Given the description of an element on the screen output the (x, y) to click on. 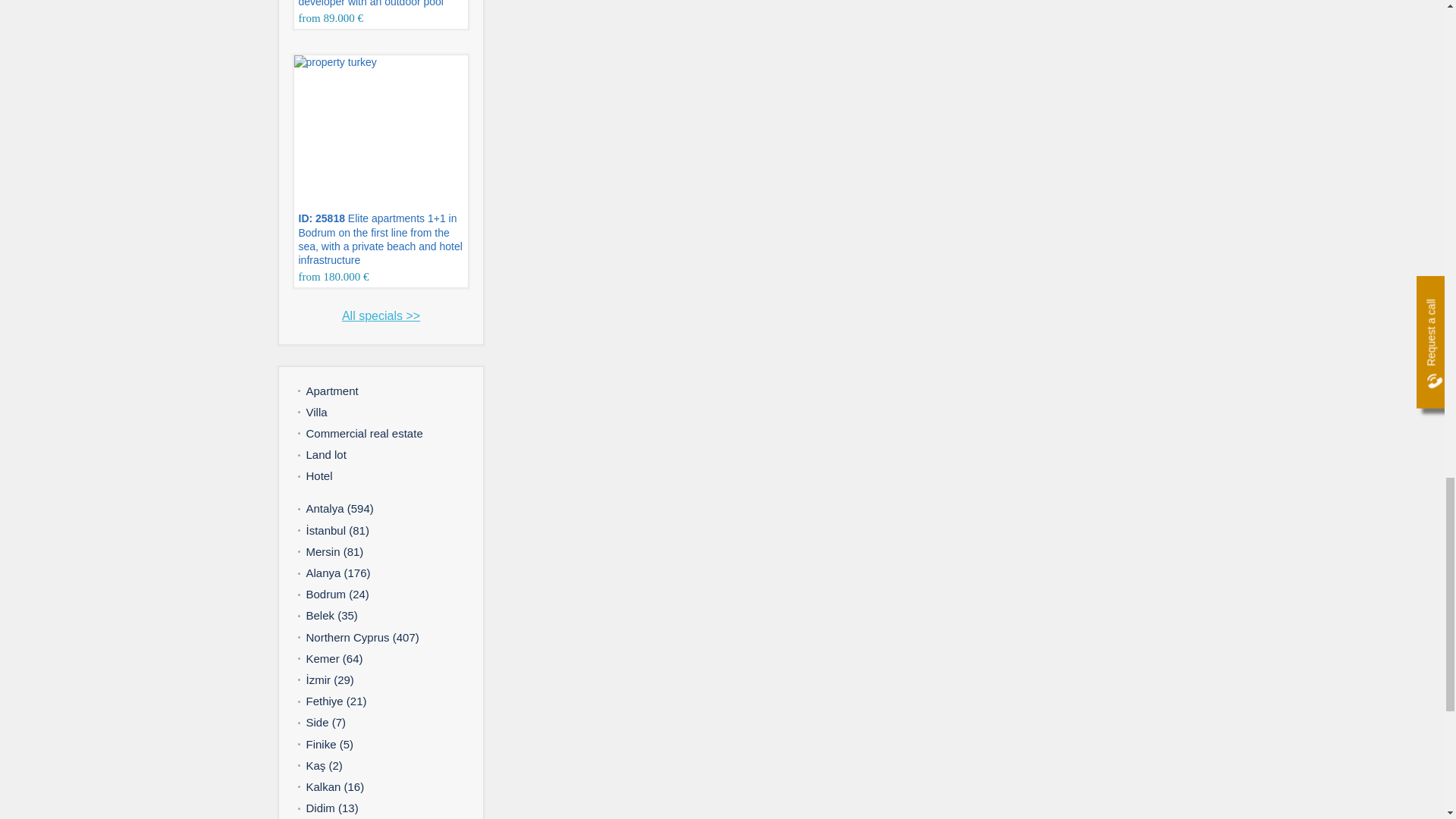
property turkey (396, 131)
